Given the description of an element on the screen output the (x, y) to click on. 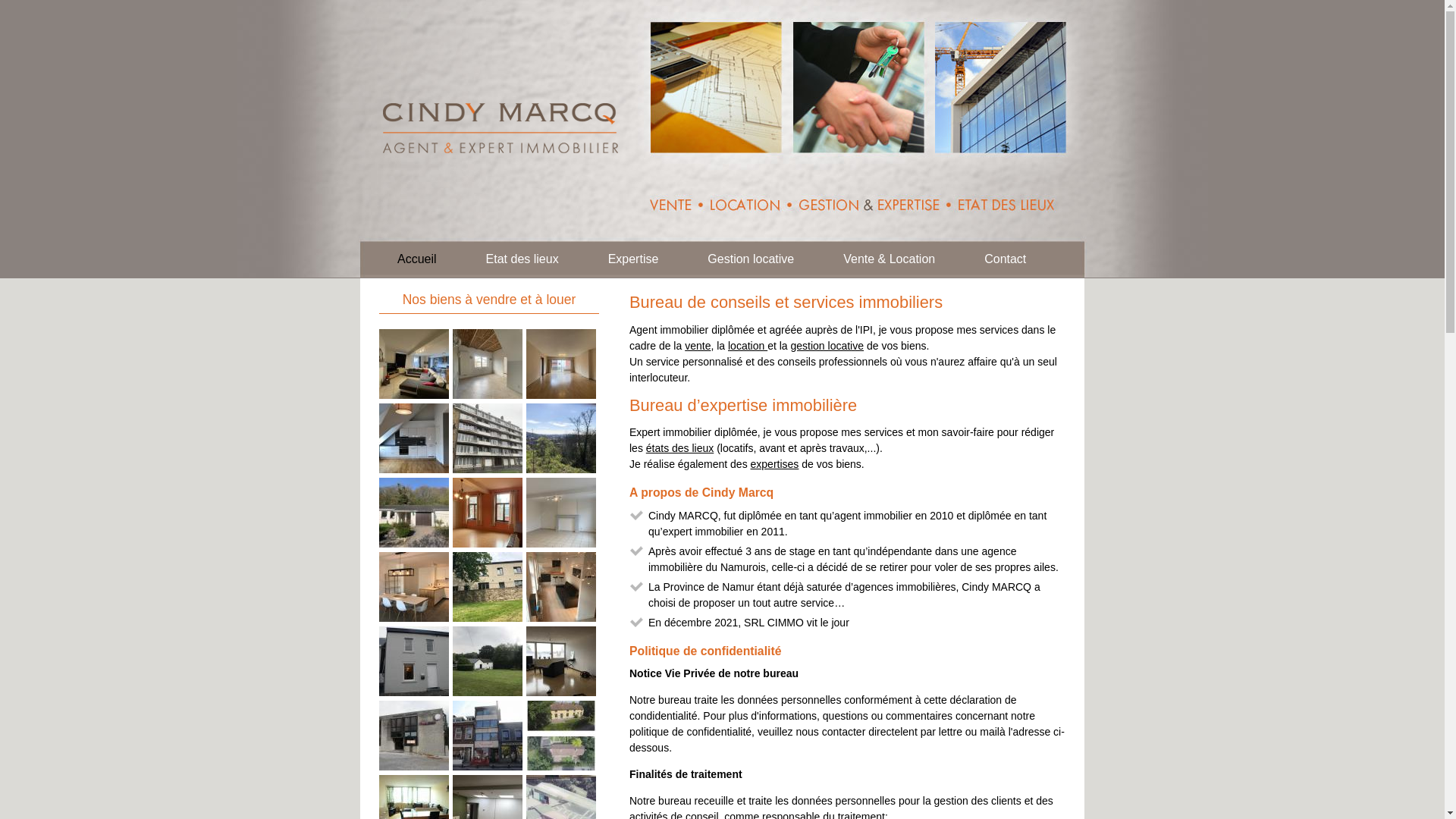
Expertise Element type: text (633, 258)
vente Element type: text (697, 345)
Accueil Element type: hover (501, 114)
Accueil Element type: text (416, 258)
expertises Element type: text (774, 464)
gestion locative Element type: text (827, 345)
Jump to navigation Element type: text (722, 2)
Contact Element type: text (1005, 258)
location Element type: text (747, 345)
Gestion locative Element type: text (750, 258)
Vente & Location Element type: text (889, 258)
Etat des lieux Element type: text (522, 258)
Maison 3 chambres sise Rue Jennay 64 aux ISNES (DEJA LOUEE) Element type: hover (413, 691)
